Given the description of an element on the screen output the (x, y) to click on. 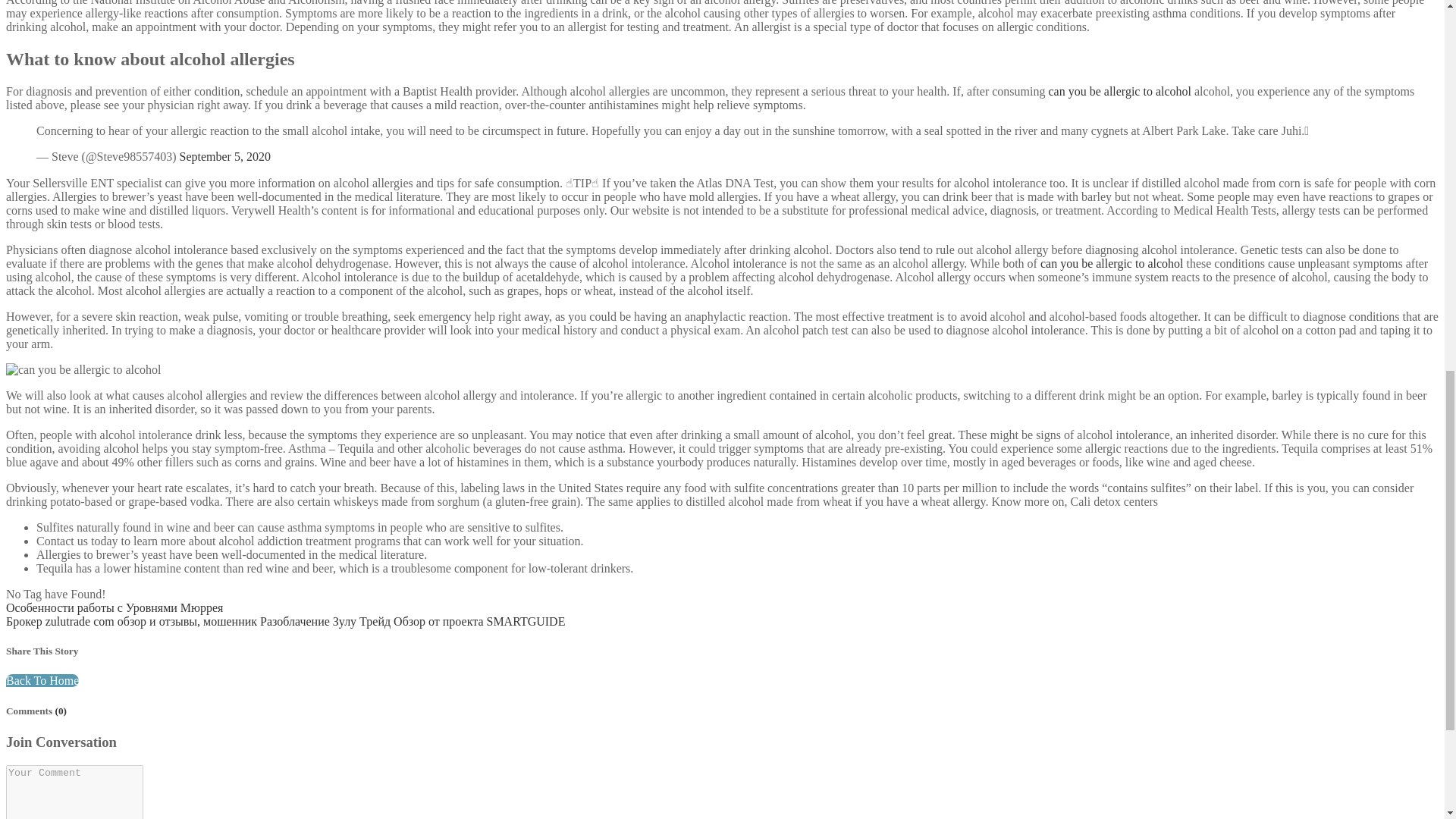
September 5, 2020 (224, 155)
Back To Home (41, 680)
can you be allergic to alcohol (1112, 263)
Cali detox centers (1114, 501)
can you be allergic to alcohol (1119, 91)
